Given the description of an element on the screen output the (x, y) to click on. 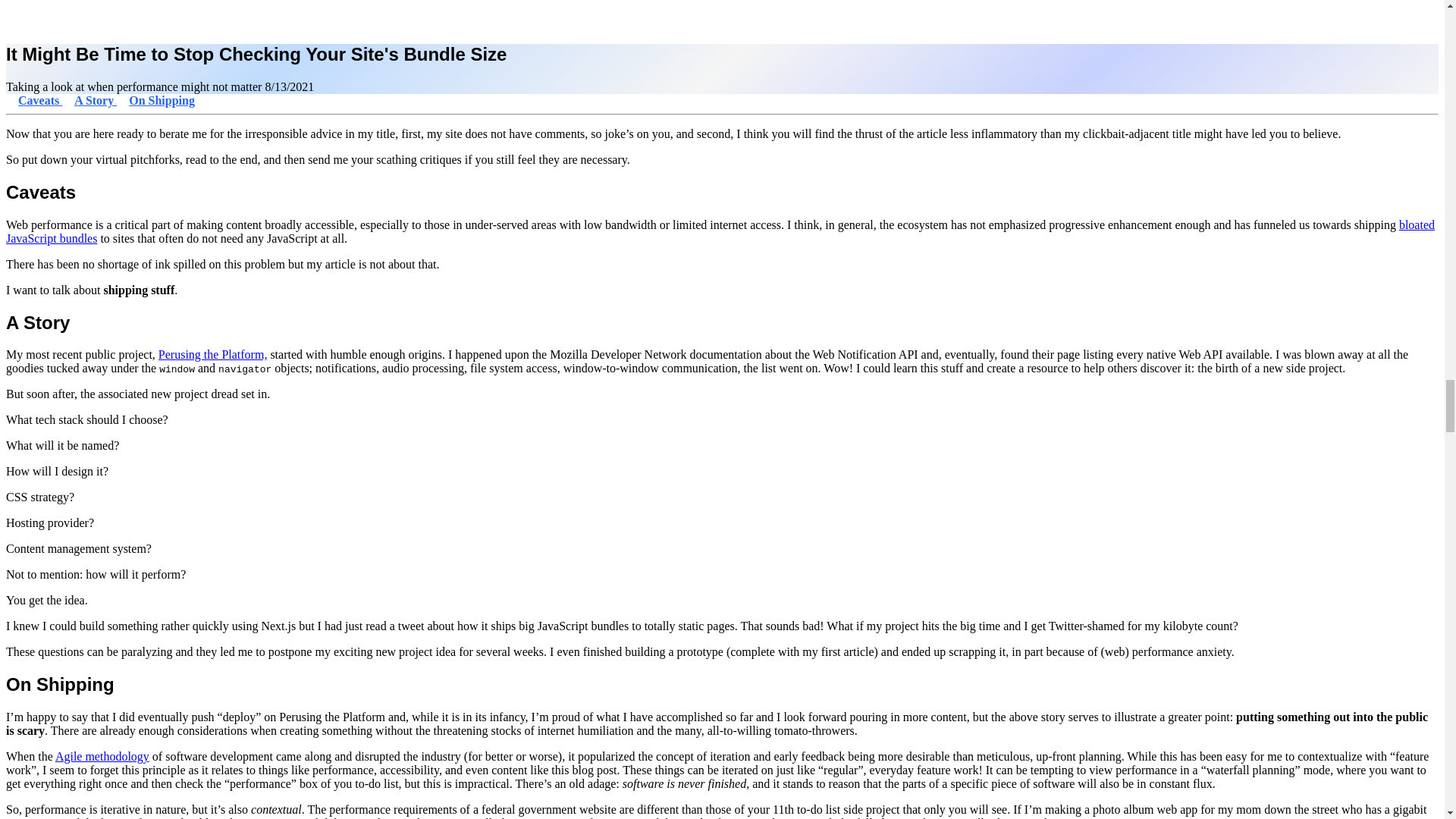
Perusing the Platform, (212, 354)
On Shipping (162, 100)
Caveats (39, 100)
Agile methodology (102, 756)
A Story (95, 100)
